Given the description of an element on the screen output the (x, y) to click on. 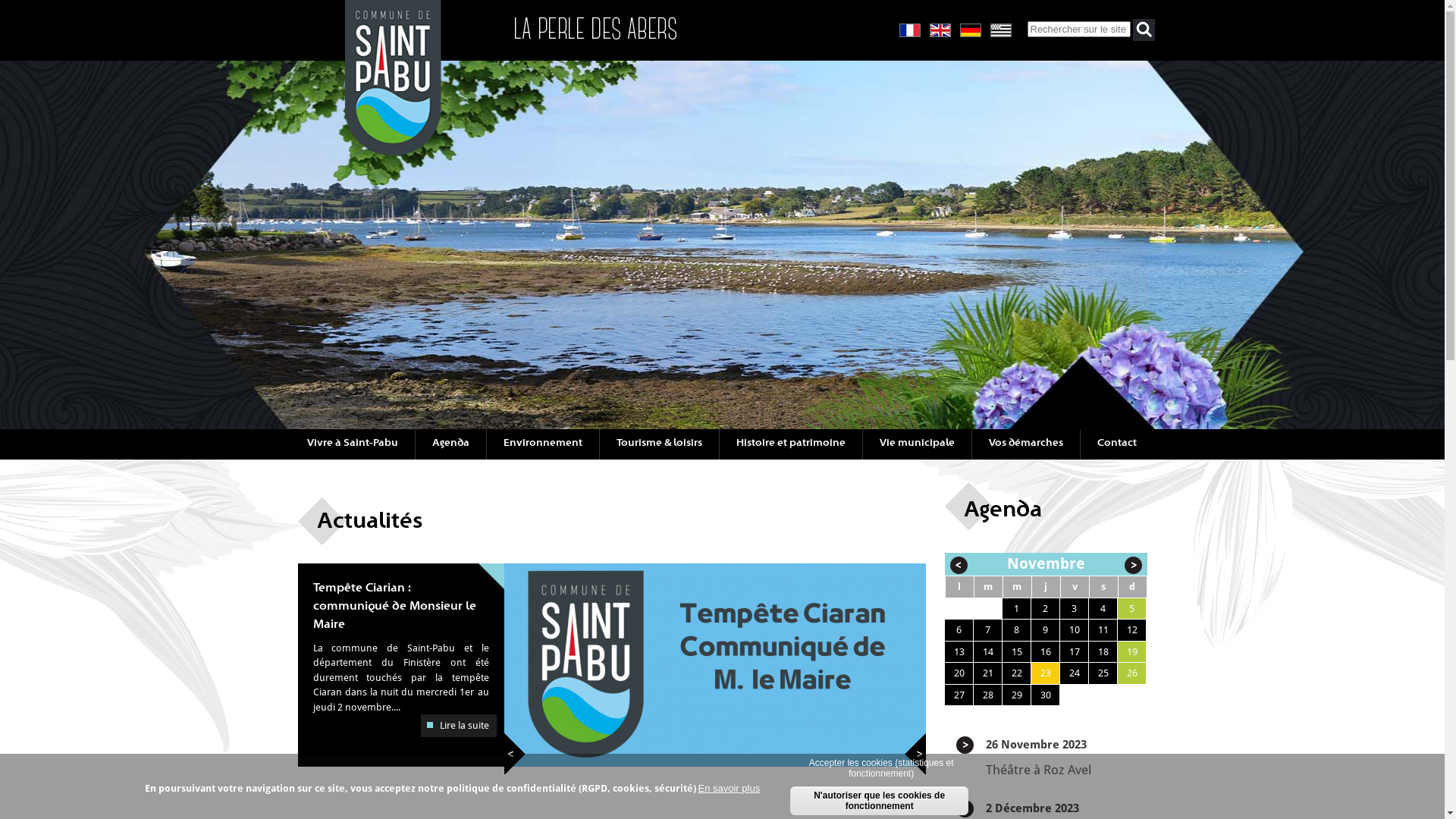
5 Element type: text (1131, 608)
Aller au contenu principal Element type: text (56, 0)
Lire la suite Element type: text (457, 725)
Rechercher Element type: text (1143, 29)
26 Element type: text (1131, 672)
Accueil Element type: hover (392, 151)
En savoir plus Element type: text (728, 787)
19 Element type: text (1131, 651)
Accepter les cookies (statistiques et fonctionnement) Element type: text (881, 767)
N'autoriser que les cookies de fonctionnement Element type: text (879, 800)
Contact Element type: text (1115, 444)
